Given the description of an element on the screen output the (x, y) to click on. 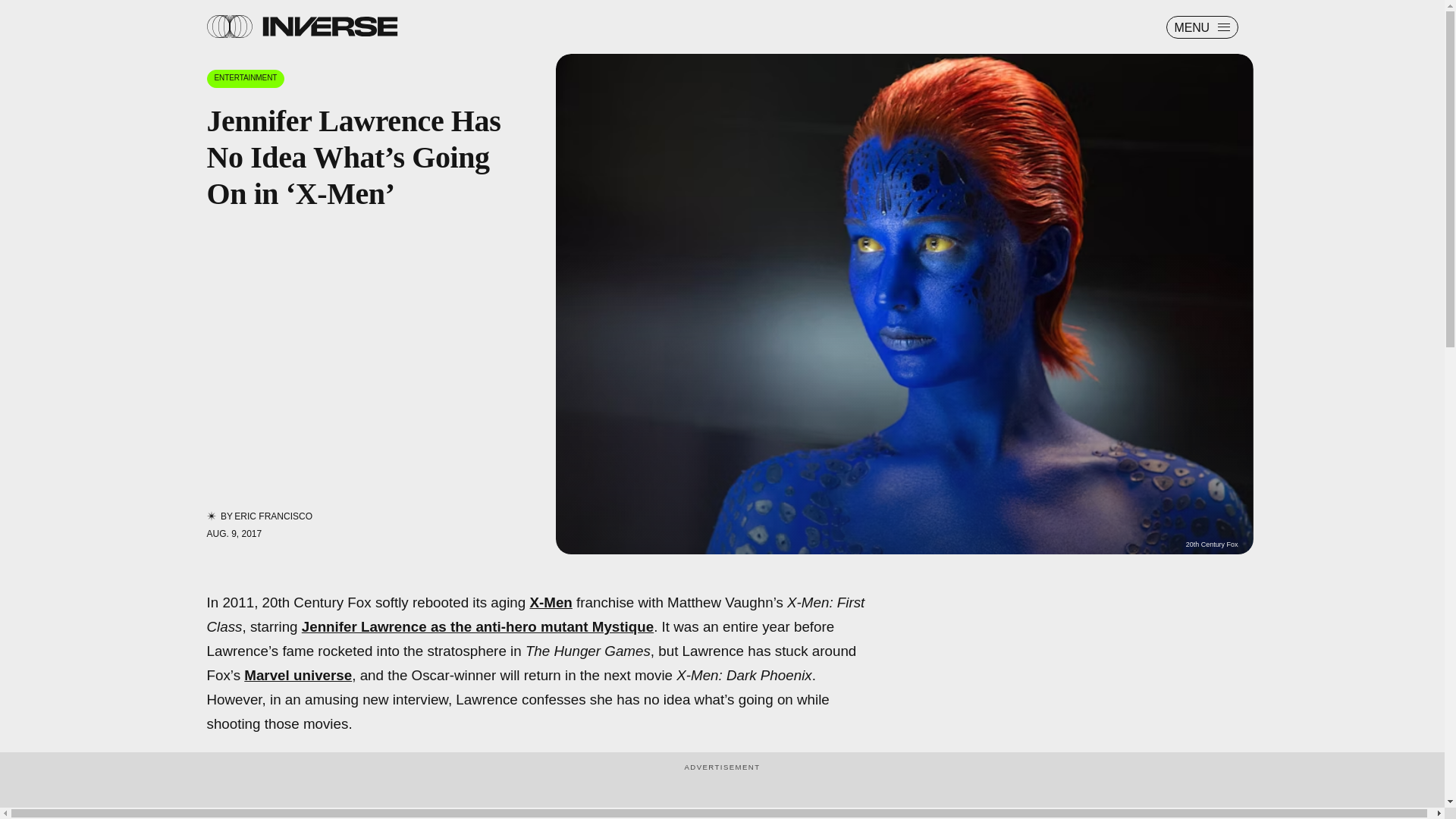
Inverse (328, 26)
Marvel universe (298, 675)
X-Men (550, 602)
ERIC FRANCISCO (273, 515)
Jennifer Lawrence as the anti-hero mutant Mystique (477, 626)
